Given the description of an element on the screen output the (x, y) to click on. 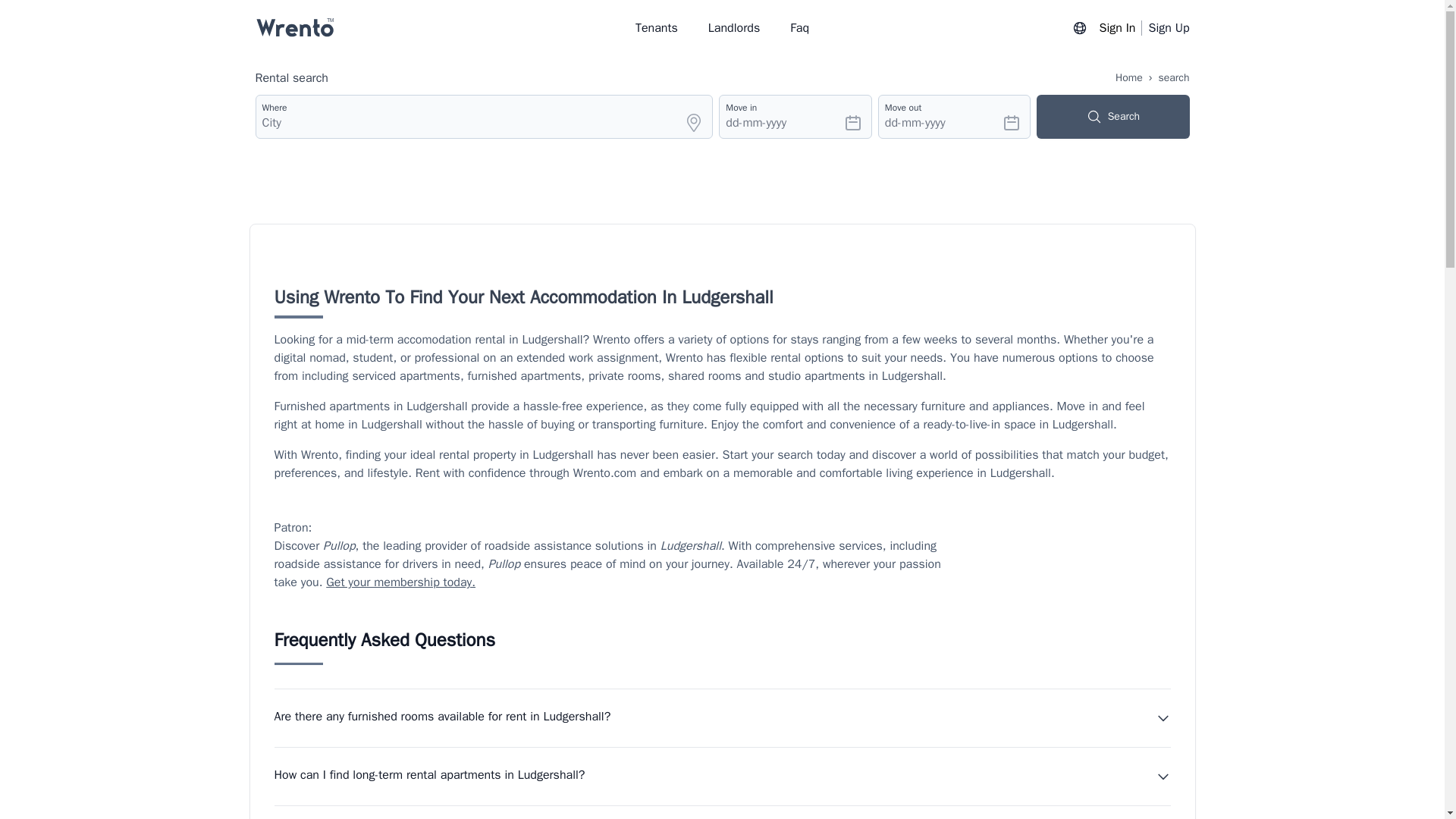
Sign In (1120, 27)
Search (1112, 116)
Home (1128, 77)
Wrento (294, 27)
Tenants (656, 27)
Search (693, 122)
How can I find long-term rental apartments in Ludgershall? (722, 776)
Tenants (656, 27)
Sign up (1168, 27)
Landlords (733, 27)
